Given the description of an element on the screen output the (x, y) to click on. 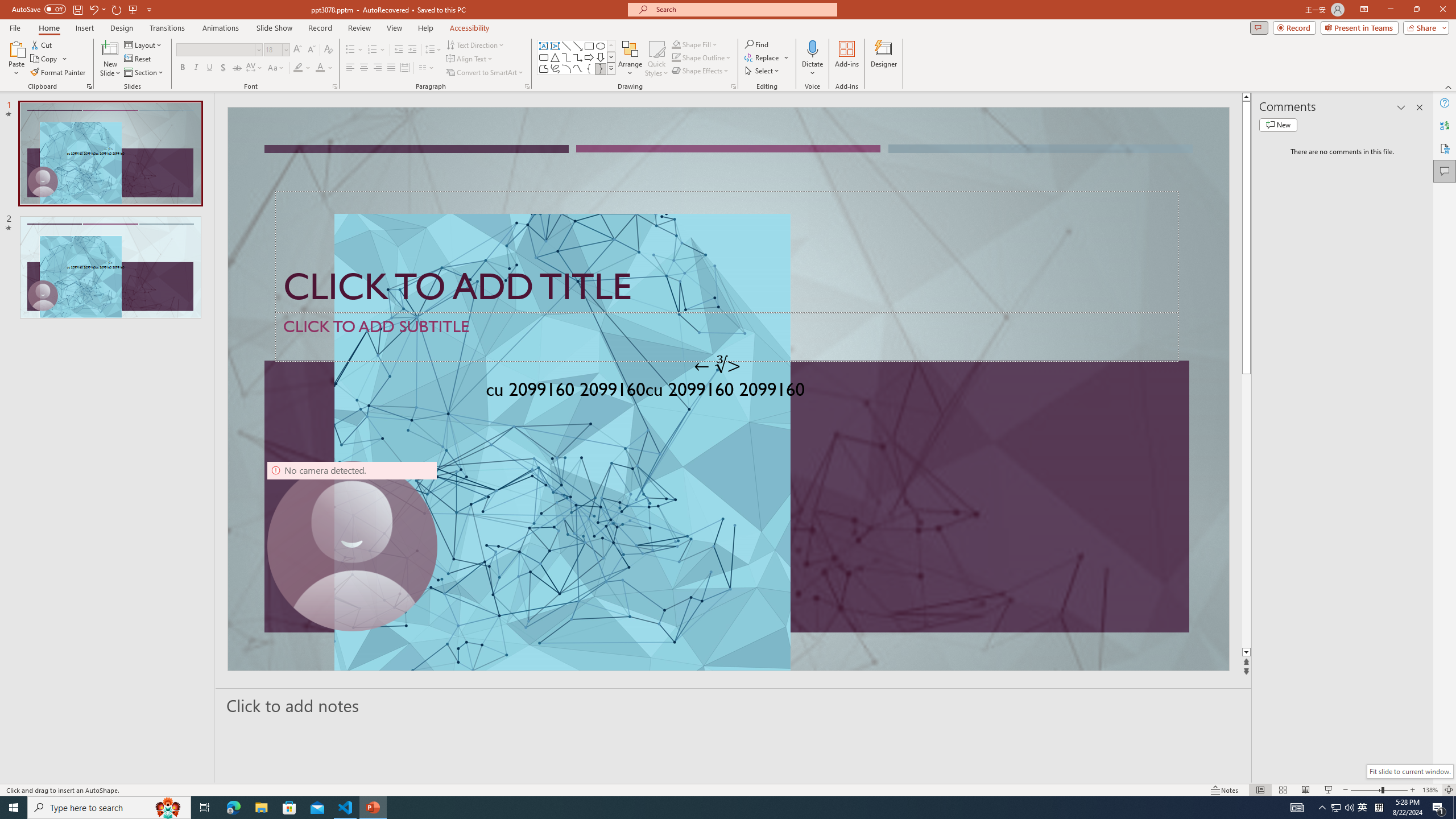
An abstract genetic concept (728, 388)
Camera 9, No camera detected. (352, 546)
